Given the description of an element on the screen output the (x, y) to click on. 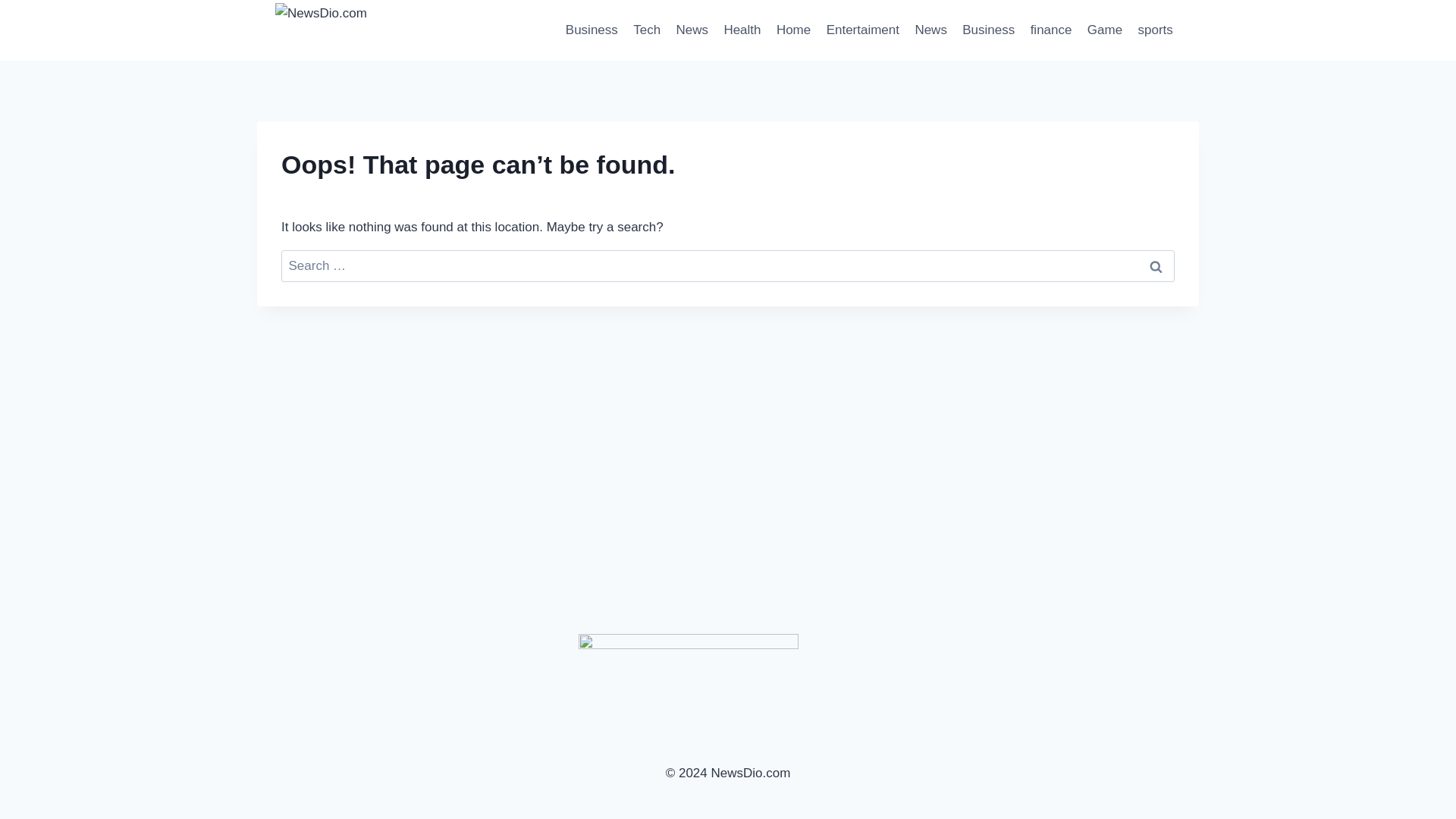
Business (591, 30)
Search (1155, 266)
Entertaiment (862, 30)
News (931, 30)
Tech (647, 30)
sports (1154, 30)
Home (793, 30)
News (692, 30)
finance (1050, 30)
Game (1105, 30)
Health (742, 30)
Search (1155, 266)
Search (1155, 266)
Business (988, 30)
